Given the description of an element on the screen output the (x, y) to click on. 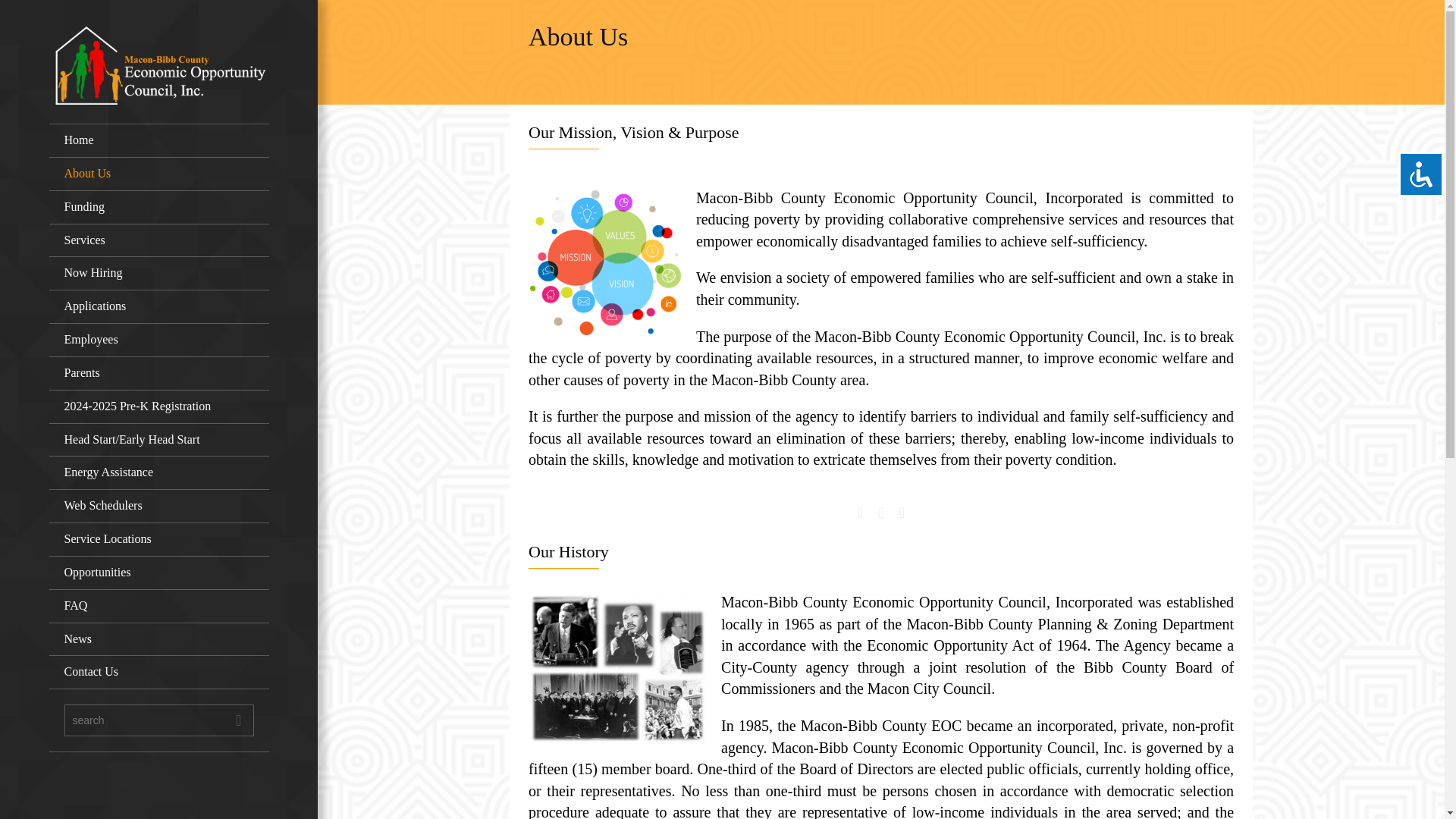
FAQ (159, 606)
Opportunities (159, 572)
Parents (159, 373)
Employees (159, 340)
Home (159, 141)
News (159, 639)
Energy Assistance (159, 472)
Service Locations (159, 539)
About Us (159, 174)
Macon-Bibb EOC (159, 64)
Applications (159, 306)
Services (159, 240)
Now Hiring (159, 273)
Web Schedulers (159, 506)
2024-2025 Pre-K Registration (159, 407)
